Given the description of an element on the screen output the (x, y) to click on. 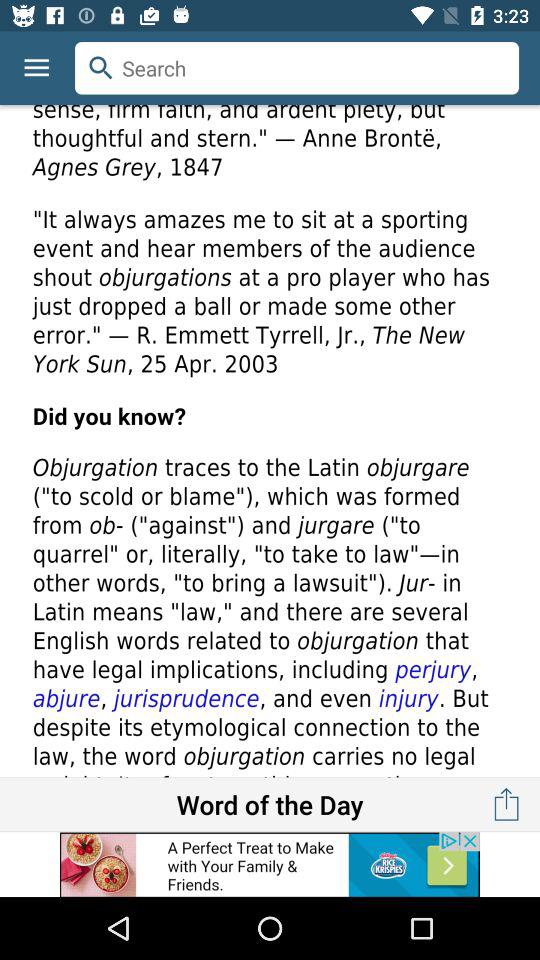
advertisement page (270, 864)
